Given the description of an element on the screen output the (x, y) to click on. 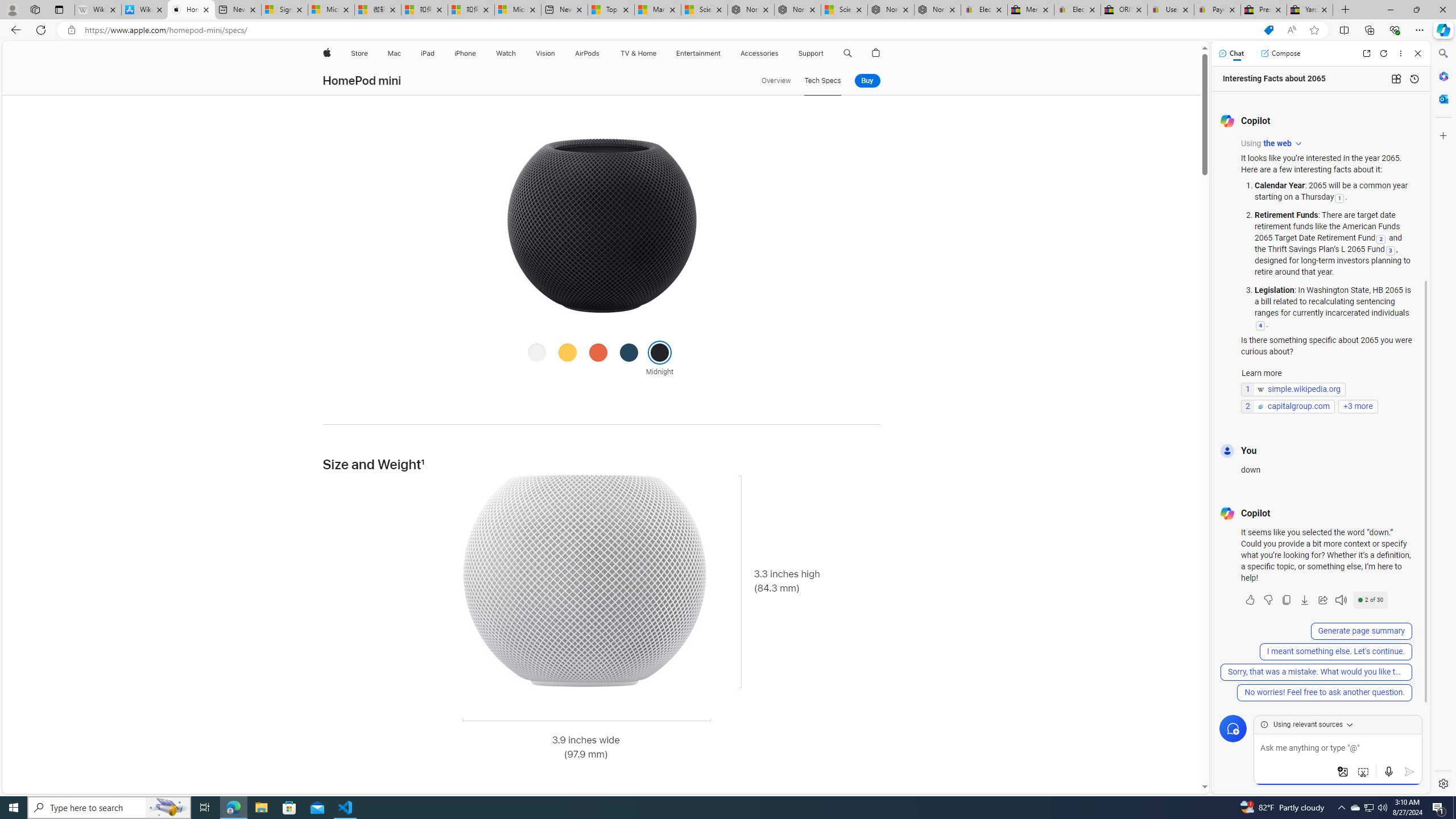
iPhone (464, 53)
White (536, 351)
AirPods menu (601, 53)
Apple (325, 53)
AirPods (587, 53)
Yellow (567, 351)
Accessories menu (780, 53)
